Given the description of an element on the screen output the (x, y) to click on. 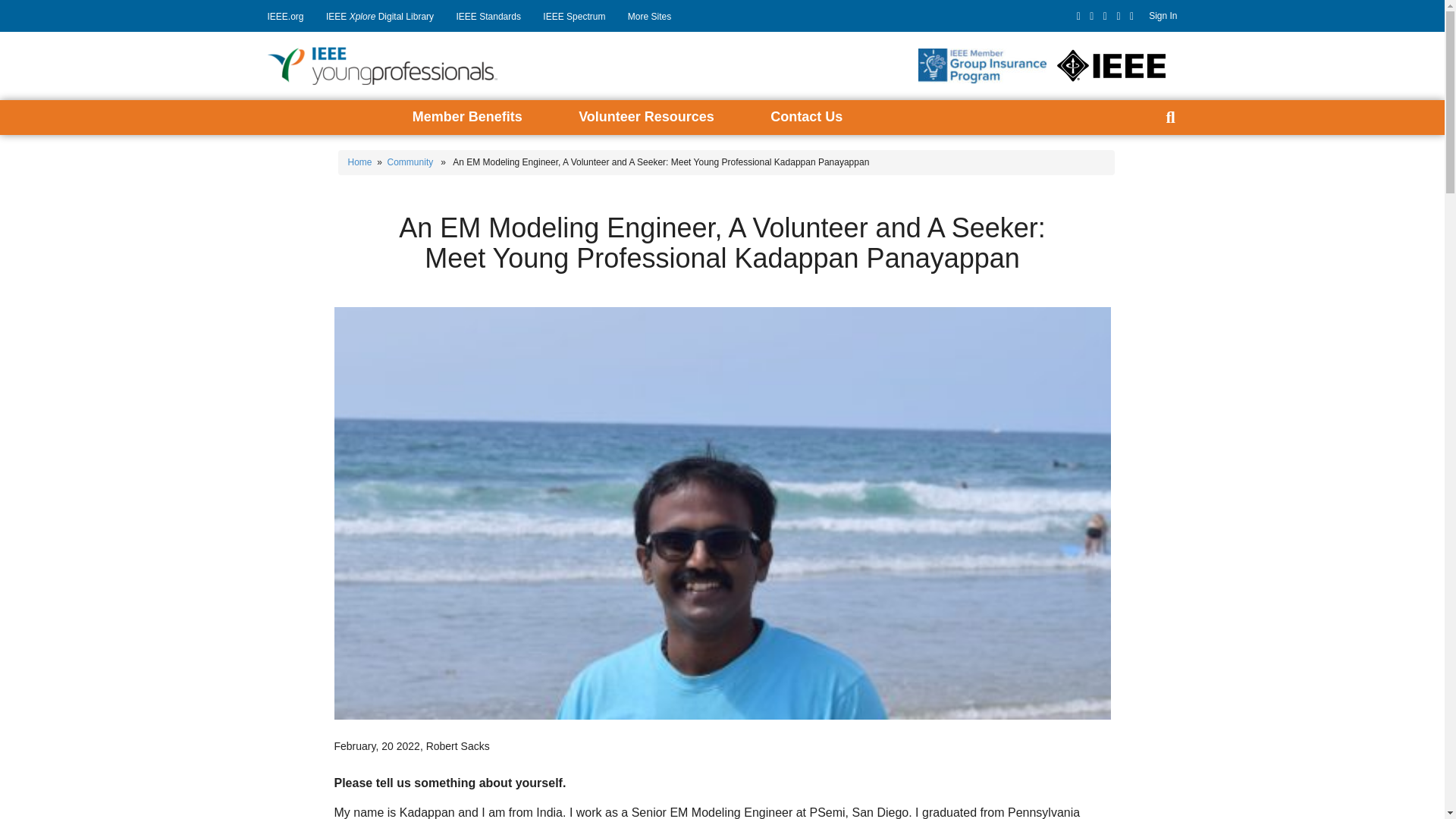
IEEE Xplore Digital Library (385, 16)
IEEE Spectrum (579, 16)
More Sites (654, 16)
Sign In (1155, 15)
Member Benefits (466, 116)
IEEE Standards (494, 16)
IEEE.org (290, 16)
